Given the description of an element on the screen output the (x, y) to click on. 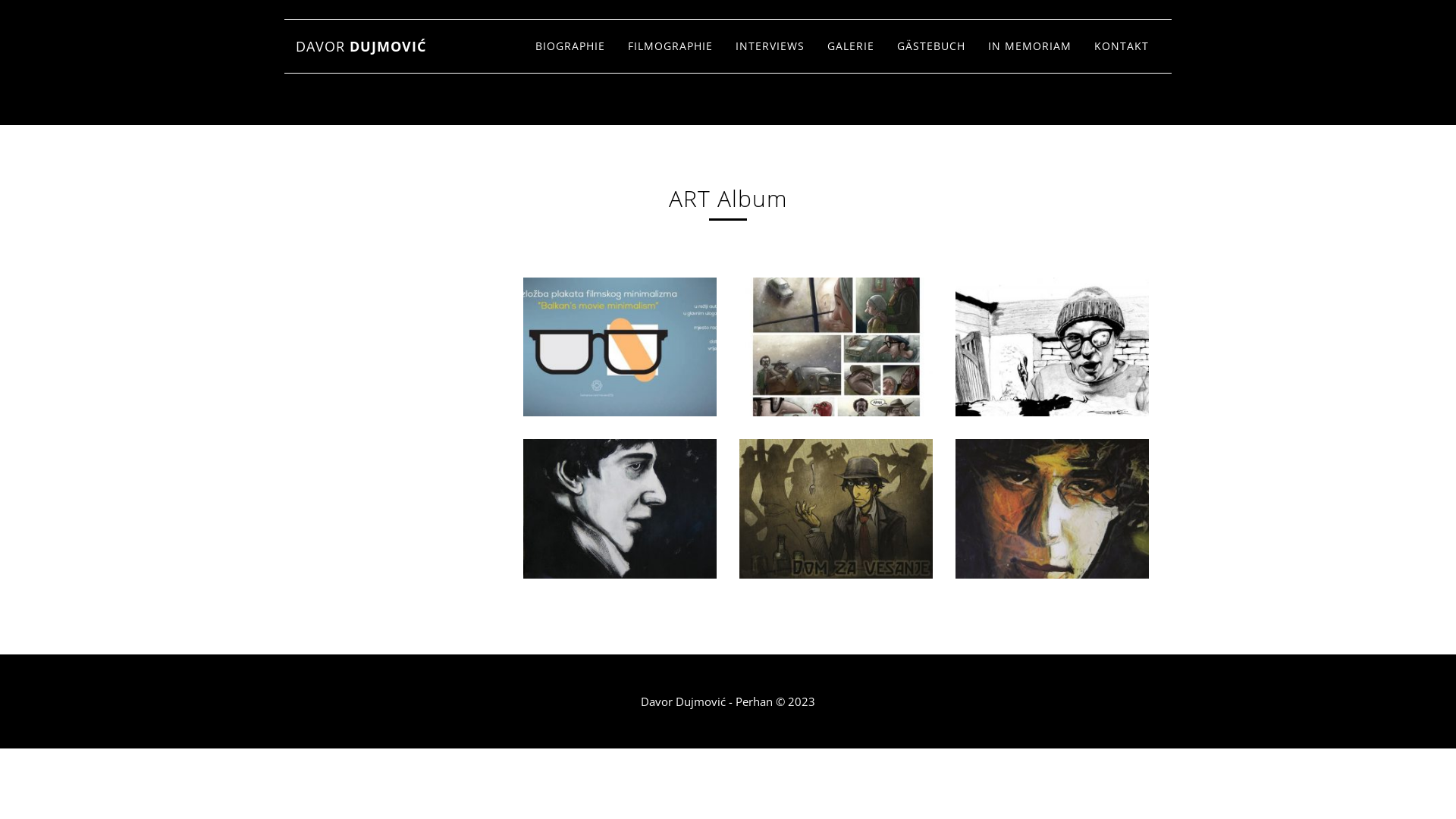
BIOGRAPHIE Element type: text (570, 46)
IN MEMORIAM Element type: text (1029, 46)
FILMOGRAPHIE Element type: text (670, 46)
INTERVIEWS Element type: text (769, 46)
KONTAKT Element type: text (1121, 46)
GALERIE Element type: text (850, 46)
